Given the description of an element on the screen output the (x, y) to click on. 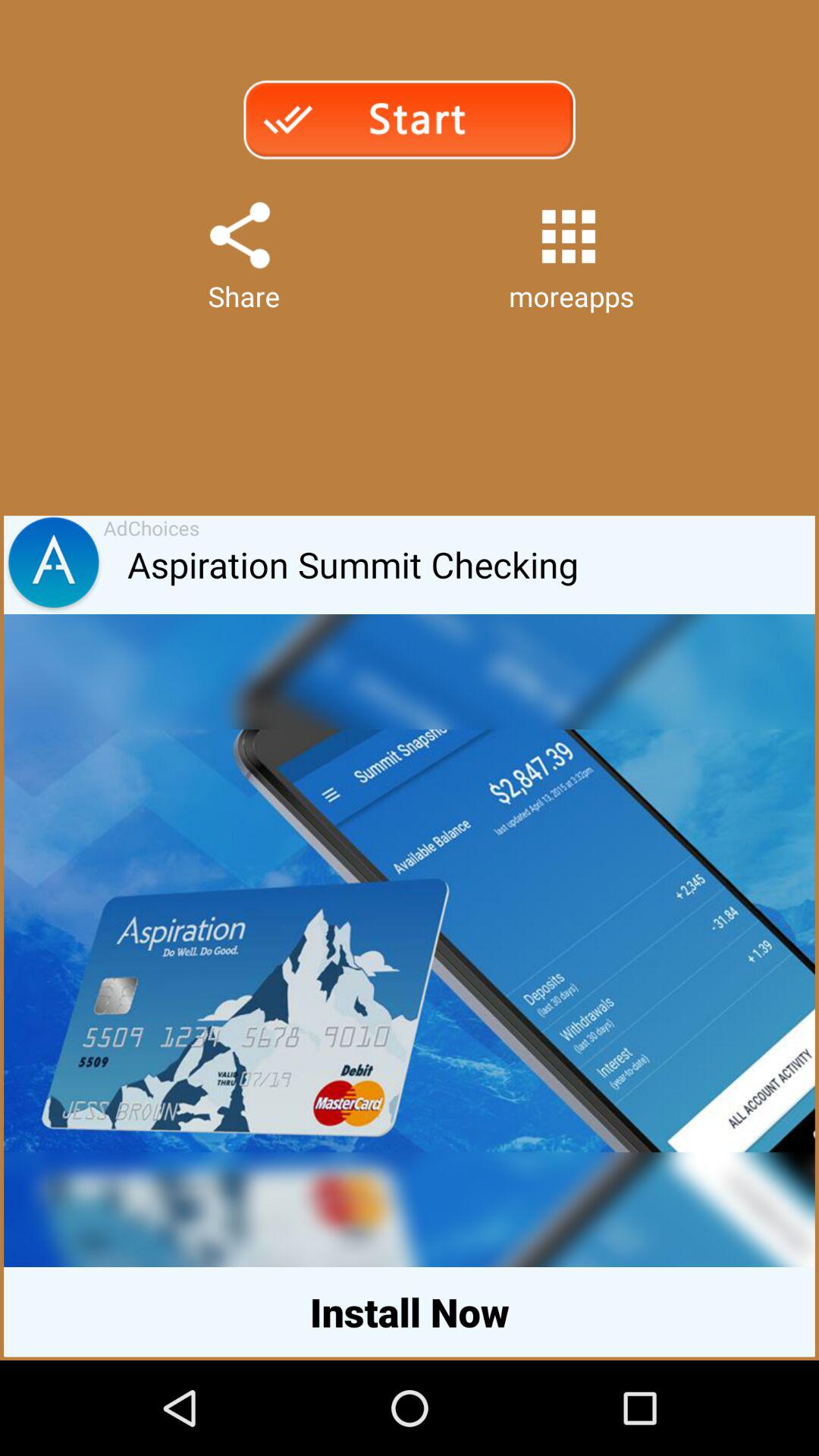
scroll to the install now button (409, 1312)
